Given the description of an element on the screen output the (x, y) to click on. 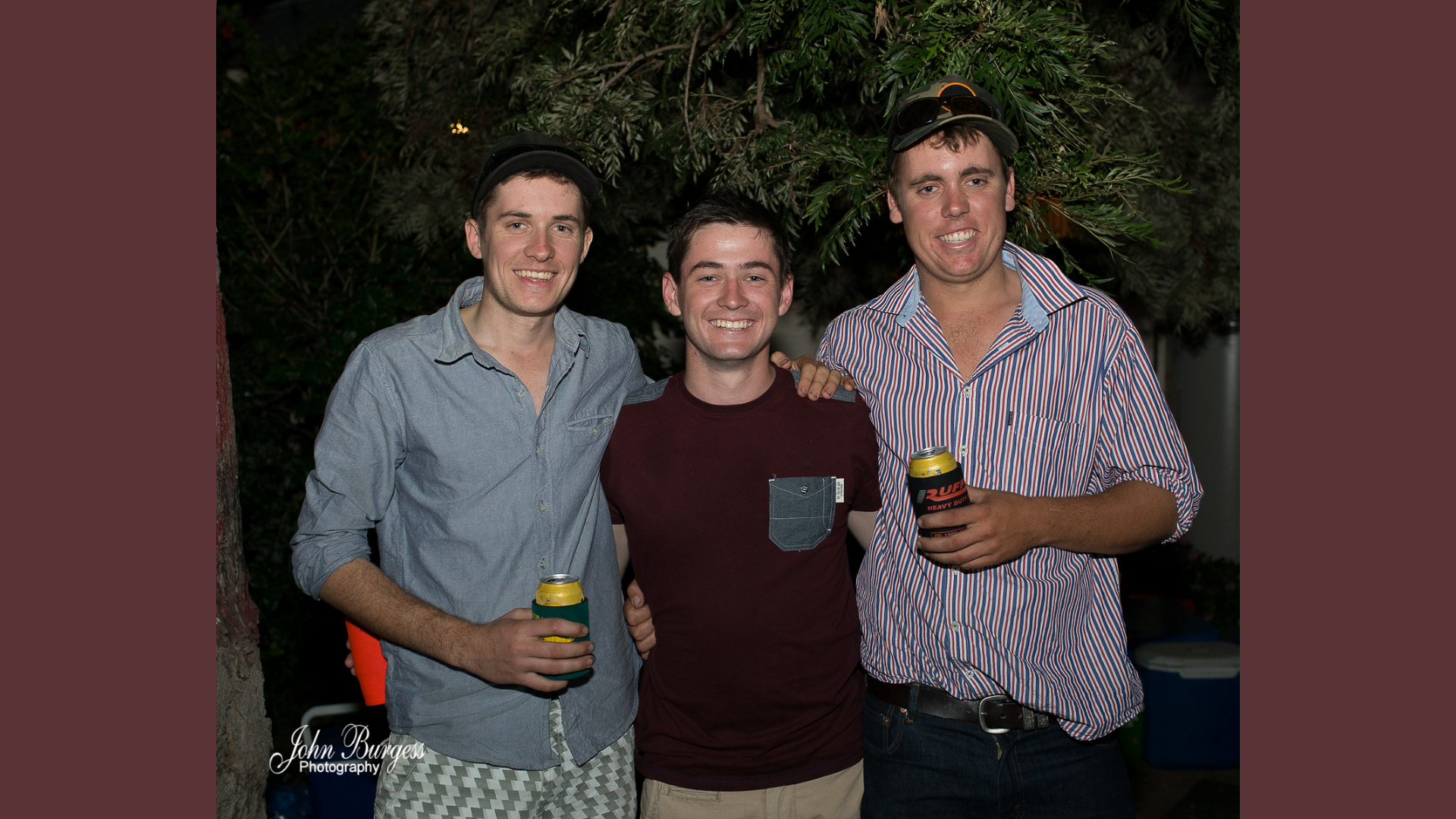
PORTRAITS Element type: text (393, 264)
INVESTMENT Element type: text (394, 338)
Slideshow Element type: hover (1110, 316)
SPORTS IMAGE PRICING Element type: text (601, 211)
WEDDINGS Element type: text (394, 227)
Owner Log In Element type: text (779, 805)
Powered by SmugMug Element type: text (696, 805)
YOUR WEDDING Element type: text (393, 300)
CONTACT Element type: text (394, 375)
